Given the description of an element on the screen output the (x, y) to click on. 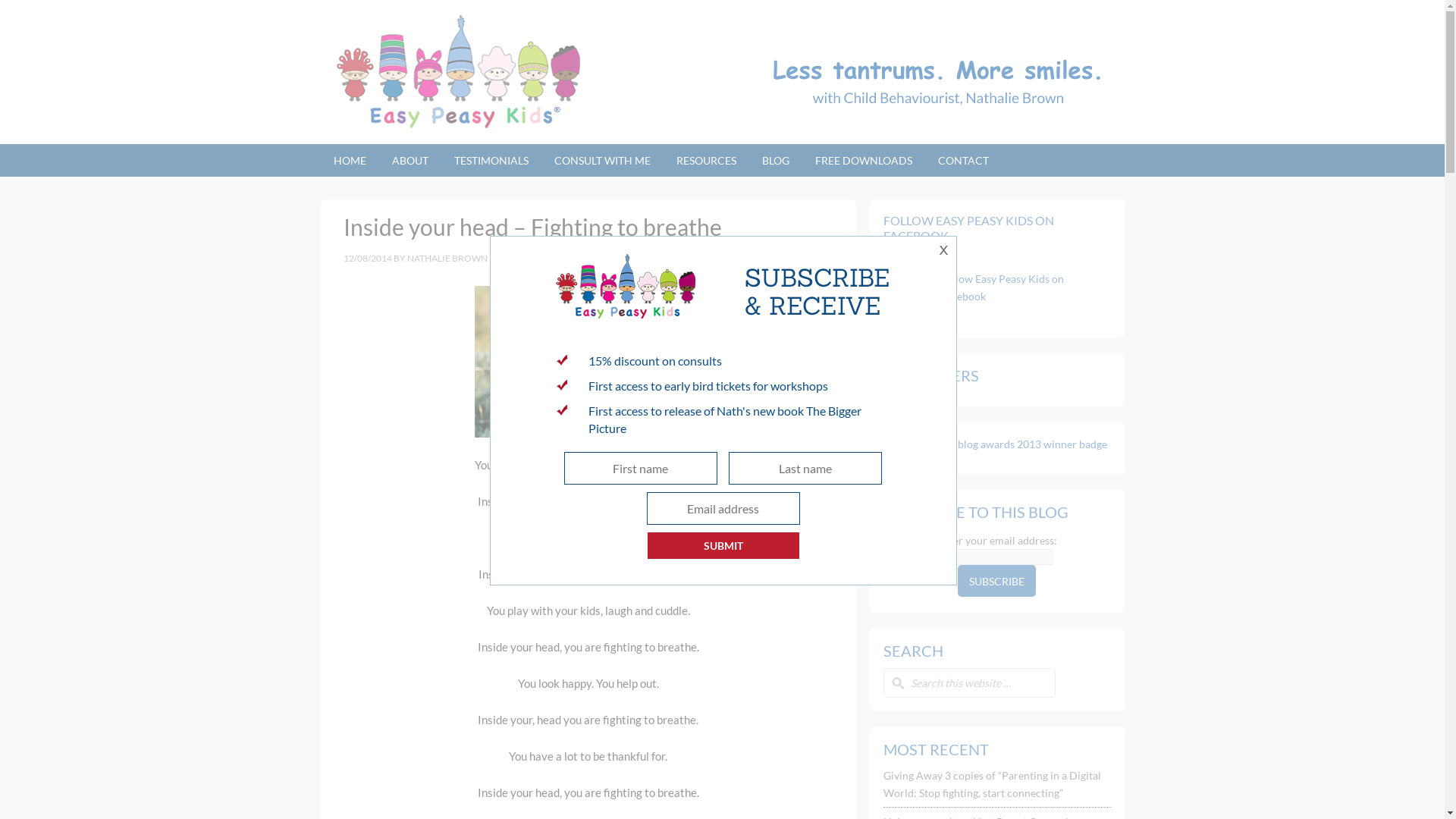
SUBMIT Element type: text (723, 545)
Bupa health blog awards 2013 winner badge Element type: hover (997, 443)
Subscribe Element type: text (996, 580)
FOLLOW EASY PEASY KIDS ON FACEBOOK Element type: text (967, 227)
Search Element type: text (32, 15)
FREE DOWNLOADS Element type: text (863, 160)
EASY PEASY KIDS Element type: text (459, 72)
TESTIMONIALS Element type: text (491, 160)
7 COMMENTS Element type: text (802, 257)
HOME Element type: text (349, 160)
CONTACT Element type: text (963, 160)
Follow Easy Peasy Kids on Facebook Element type: text (1001, 287)
NATHALIE BROWN Element type: text (446, 257)
